Given the description of an element on the screen output the (x, y) to click on. 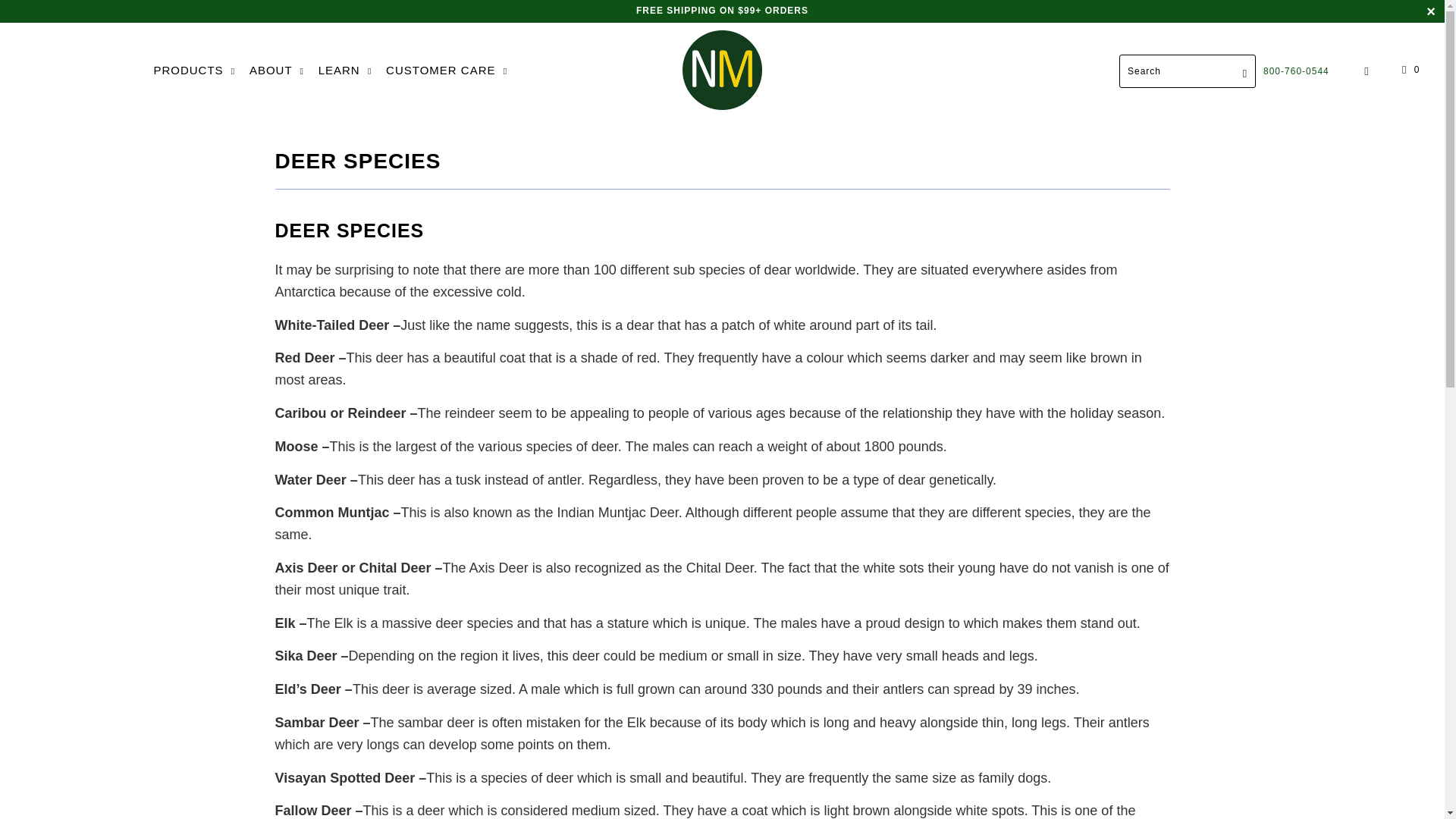
My Account  (1366, 70)
Nature's Mace (721, 71)
